Given the description of an element on the screen output the (x, y) to click on. 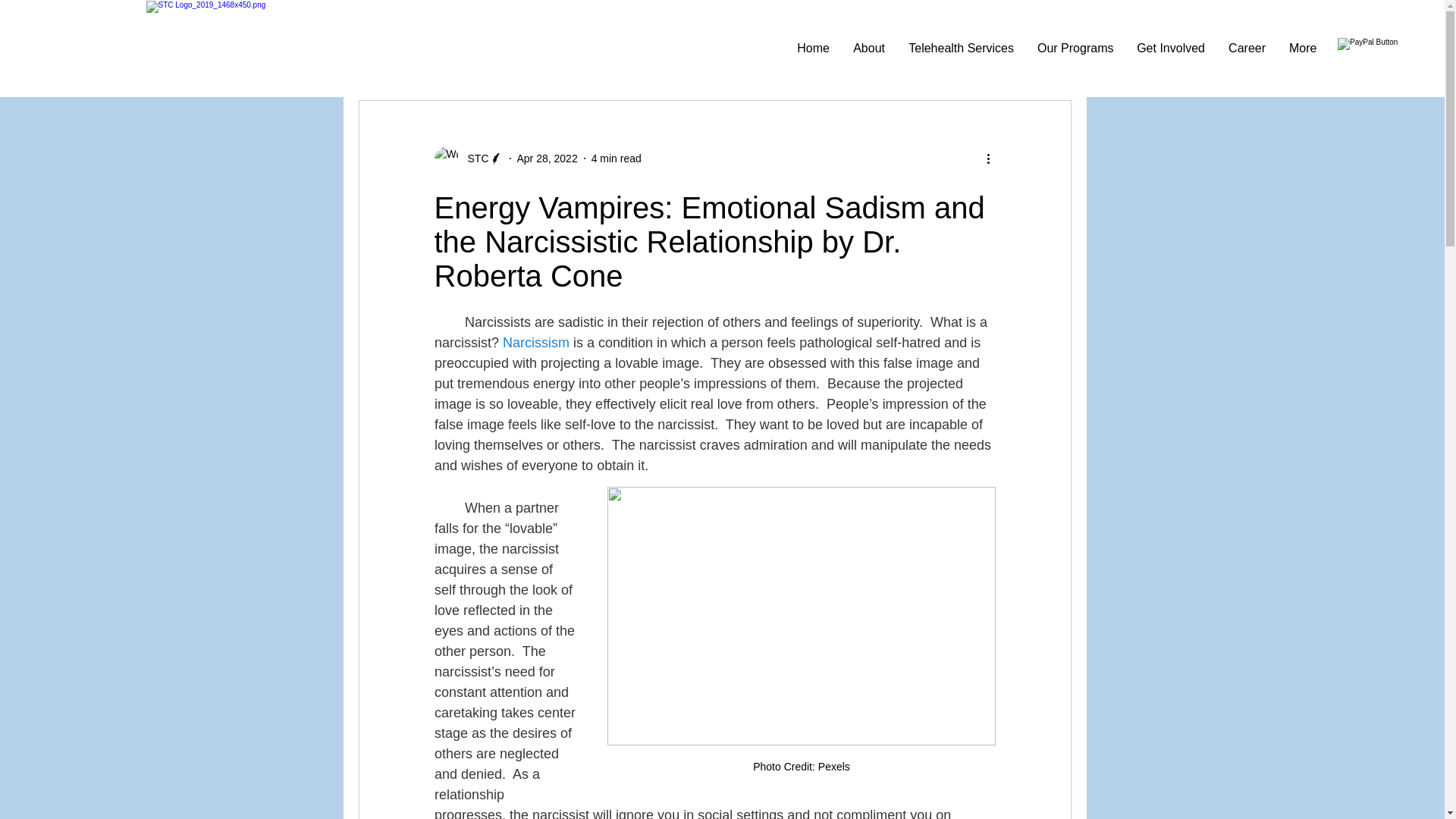
COVID-19 (573, 54)
All Posts (383, 54)
Substance Abuse (684, 54)
Anxiety (788, 54)
Home (812, 47)
4 min read (616, 157)
STC (472, 157)
Apr 28, 2022 (547, 157)
Relationship (477, 54)
Lifestyle (931, 54)
Family (858, 54)
